Given the description of an element on the screen output the (x, y) to click on. 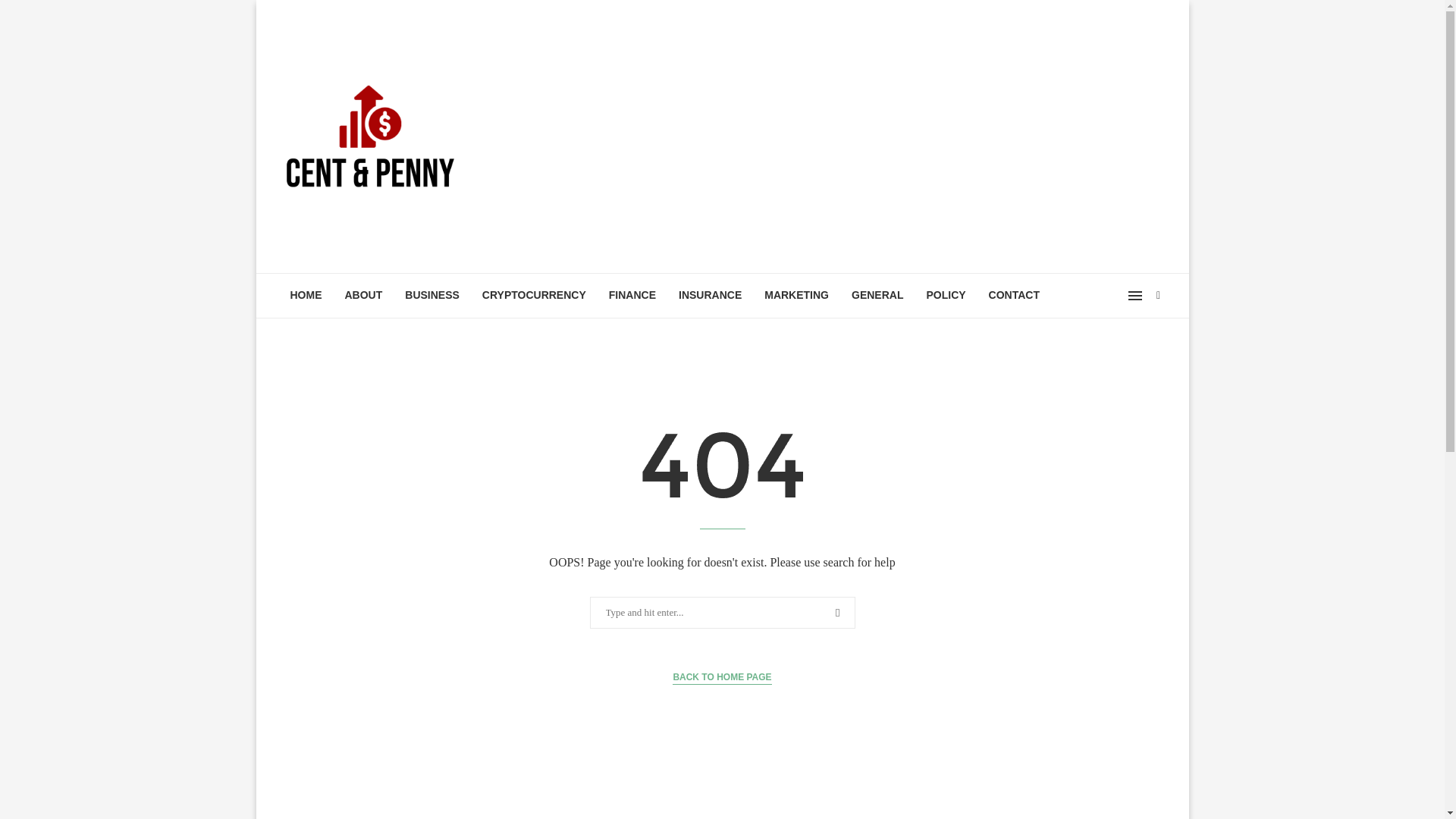
FINANCE (631, 295)
INSURANCE (709, 295)
Advertisement (722, 807)
ABOUT (363, 295)
HOME (306, 295)
BACK TO HOME PAGE (721, 677)
GENERAL (877, 295)
Advertisement (874, 136)
Search (35, 15)
CONTACT (1013, 295)
